Given the description of an element on the screen output the (x, y) to click on. 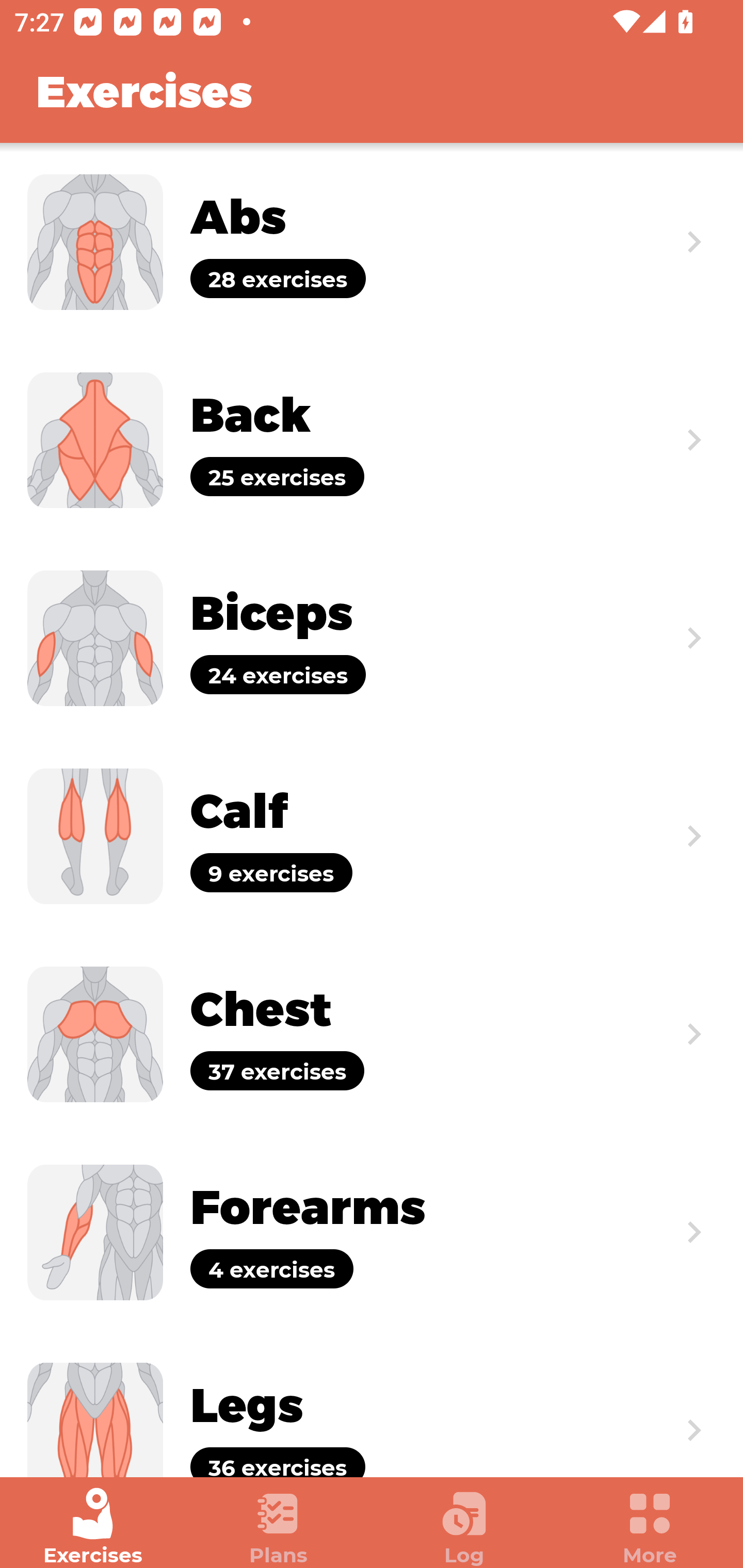
Exercise Abs 28 exercises (371, 241)
Exercise Back 25 exercises (371, 439)
Exercise Biceps 24 exercises (371, 637)
Exercise Calf 9 exercises (371, 836)
Exercise Chest 37 exercises (371, 1033)
Exercise Forearms 4 exercises (371, 1232)
Exercise Legs 36 exercises (371, 1404)
Exercises (92, 1527)
Plans (278, 1527)
Log (464, 1527)
More (650, 1527)
